Given the description of an element on the screen output the (x, y) to click on. 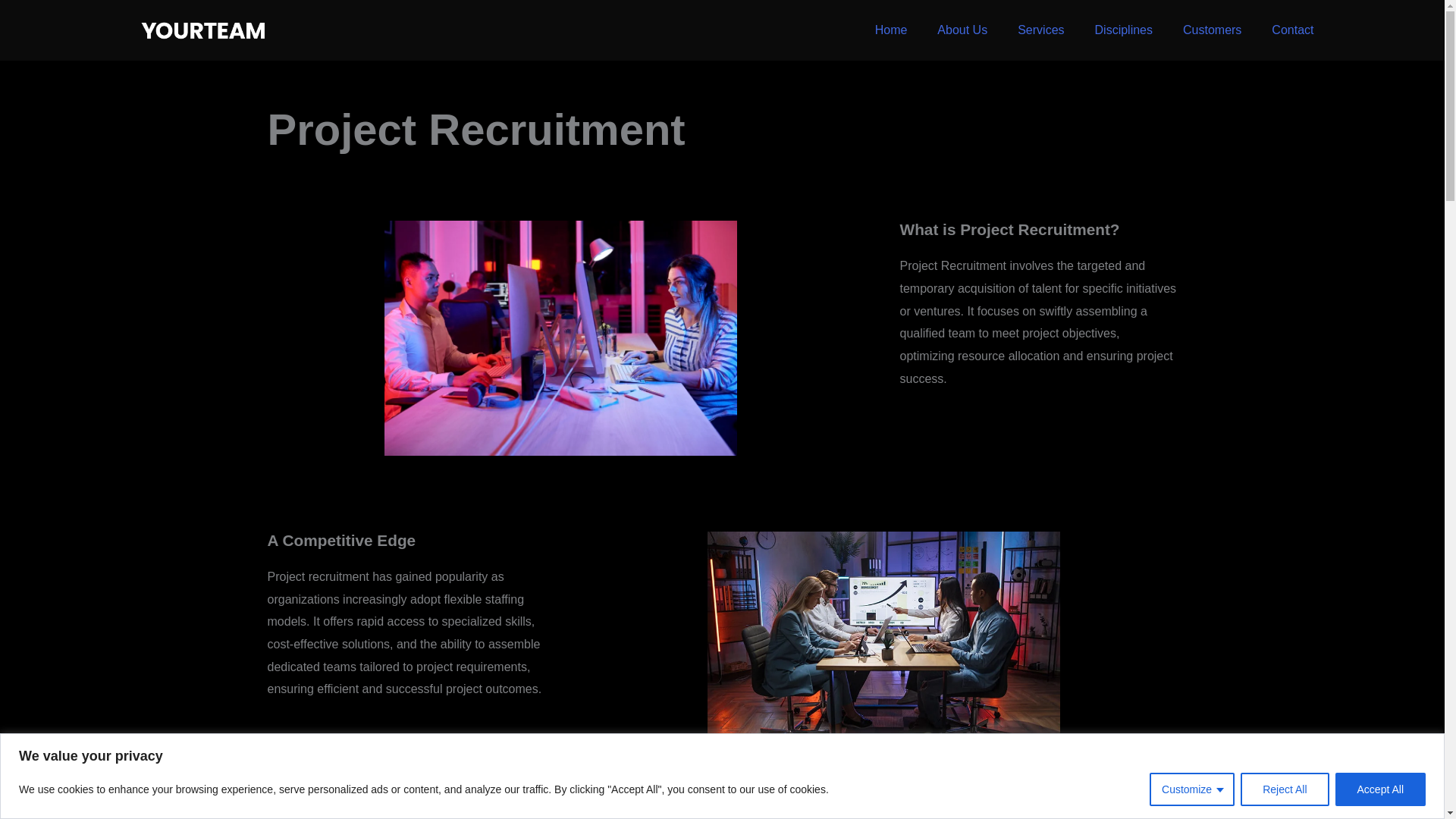
Customize (1192, 788)
Disciplines (1123, 30)
Customers (1211, 30)
Accept All (1380, 788)
Home (891, 30)
Contact (1291, 30)
About Us (962, 30)
Reject All (1283, 788)
Services (1040, 30)
